Given the description of an element on the screen output the (x, y) to click on. 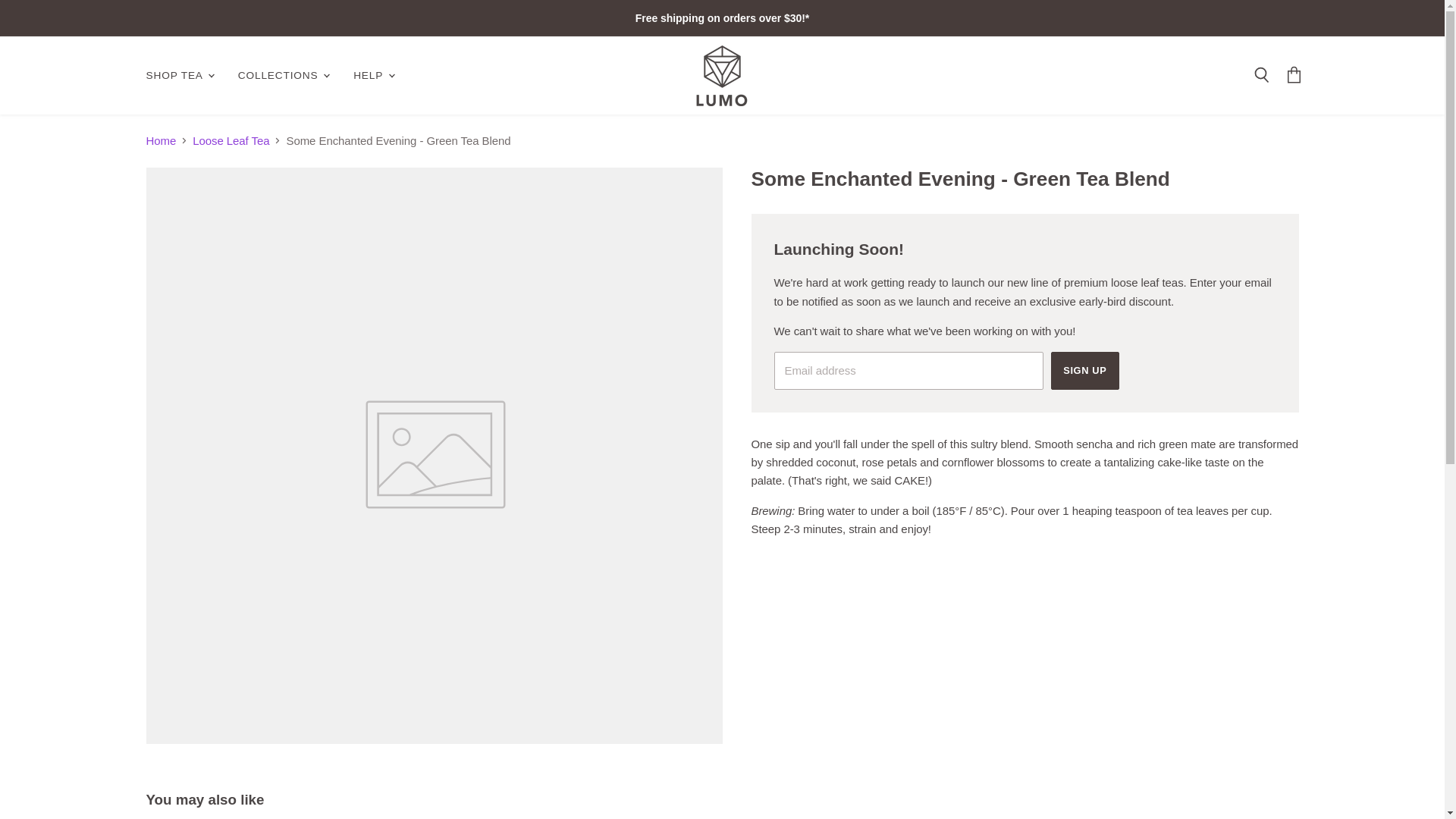
Search (1261, 75)
View cart (1293, 75)
HELP (372, 74)
SHOP TEA (179, 74)
COLLECTIONS (283, 74)
